Given the description of an element on the screen output the (x, y) to click on. 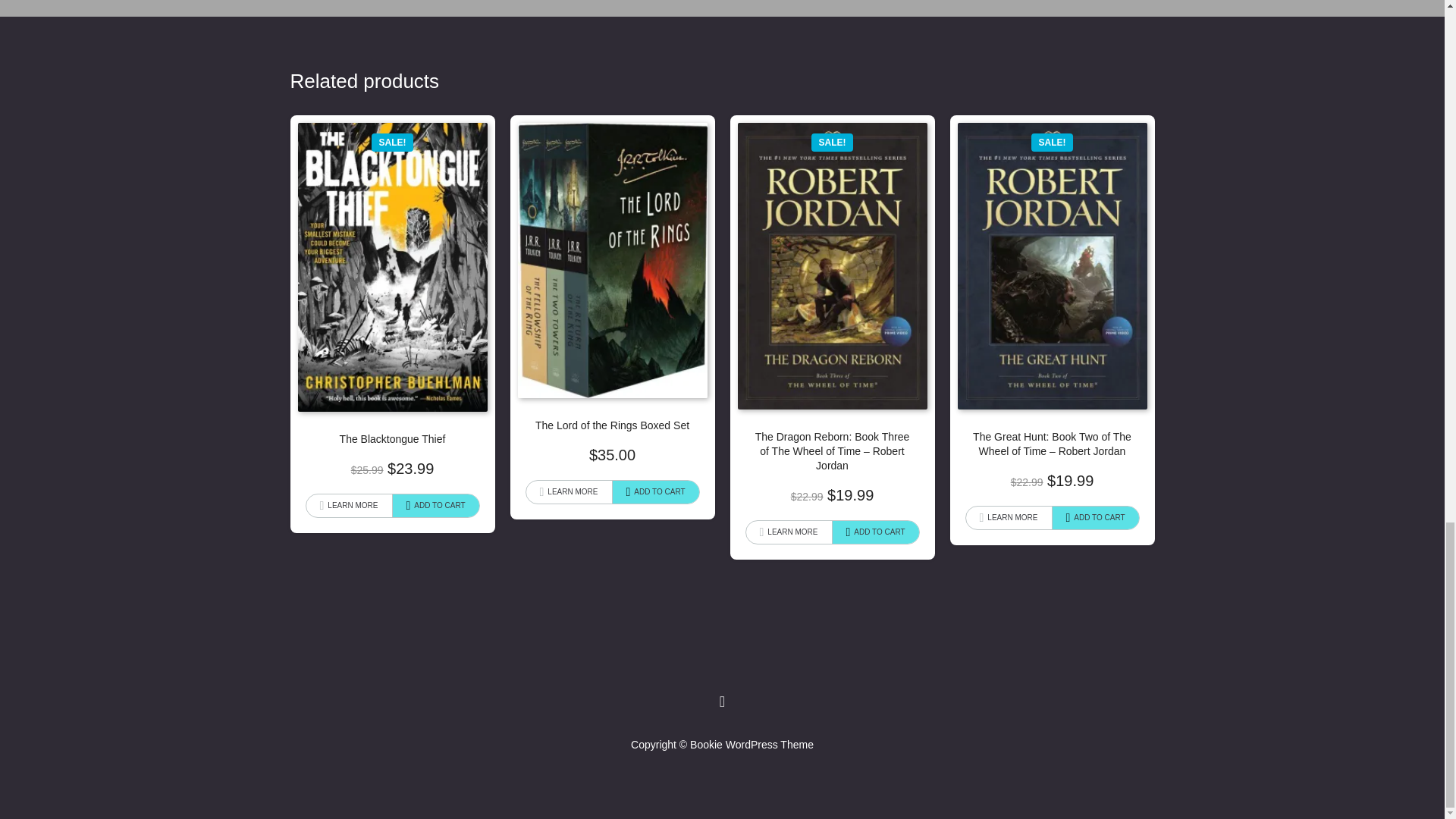
LEARN MORE (349, 505)
LEARN MORE (788, 531)
LEARN MORE (1009, 517)
LEARN MORE (568, 491)
ADD TO CART (875, 531)
ADD TO CART (436, 505)
Twitter (722, 701)
ADD TO CART (655, 491)
ADD TO CART (1095, 517)
